Given the description of an element on the screen output the (x, y) to click on. 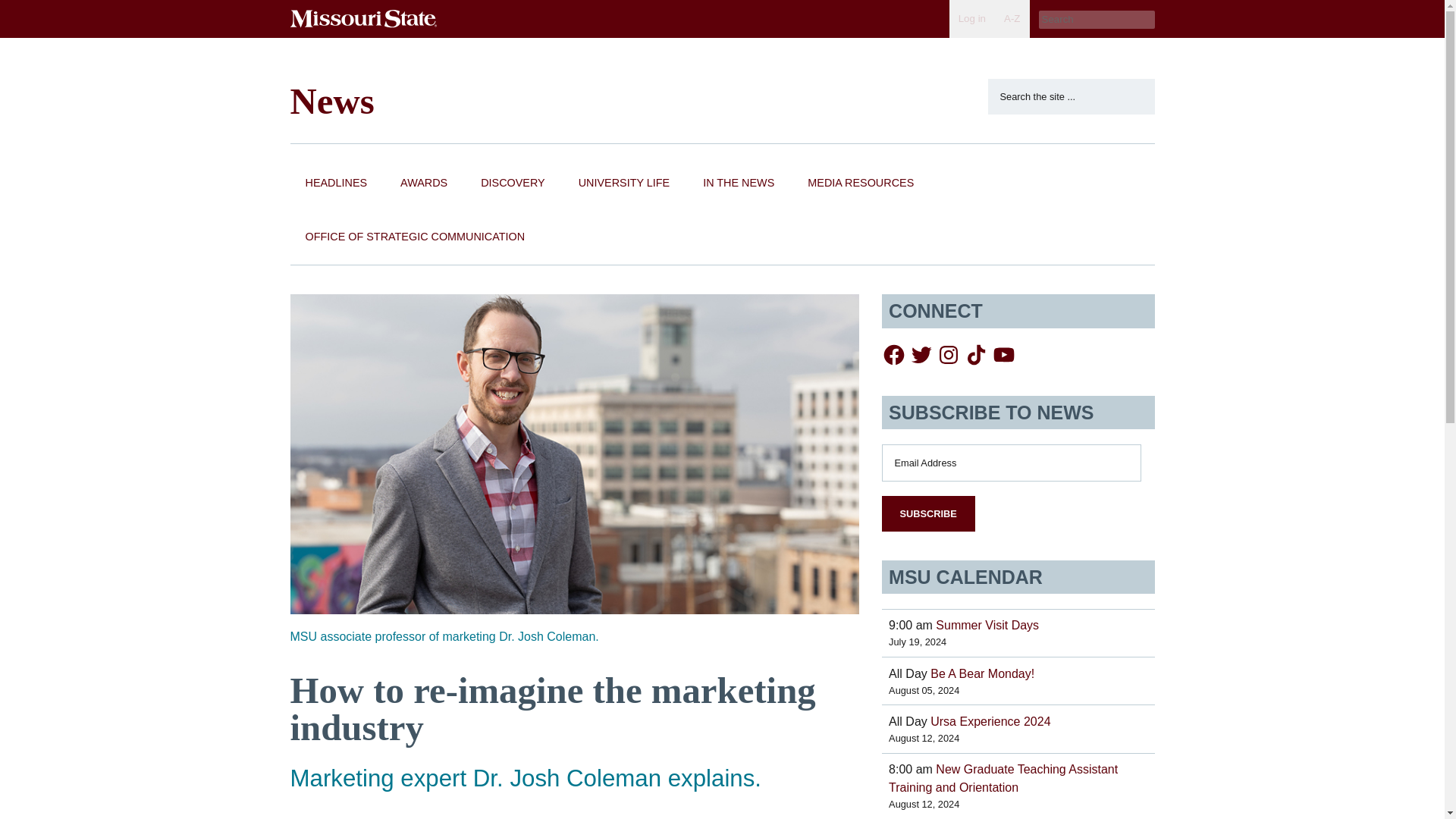
HEADLINES (335, 183)
DISCOVERY (512, 183)
AWARDS (424, 183)
Log in (971, 18)
News (331, 101)
A-Z (1011, 18)
